Given the description of an element on the screen output the (x, y) to click on. 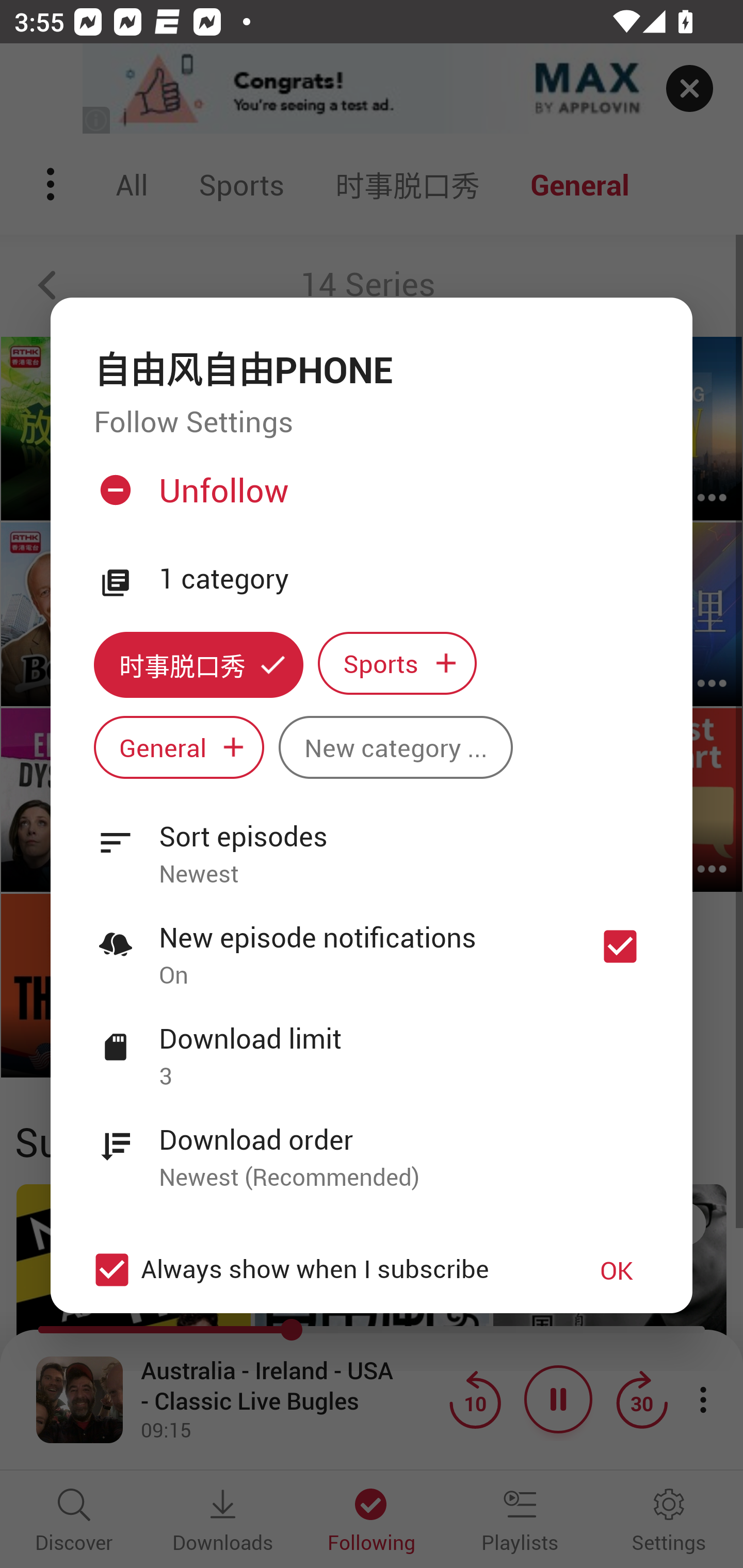
Unfollow (369, 498)
1 category (404, 578)
时事脱口秀 (198, 664)
Sports (397, 662)
General (178, 747)
New category ... (395, 747)
Sort episodes Newest (371, 843)
New episode notifications (620, 946)
Download limit 3 (371, 1045)
Download order Newest (Recommended) (371, 1146)
OK (616, 1269)
Always show when I subscribe (320, 1269)
